Given the description of an element on the screen output the (x, y) to click on. 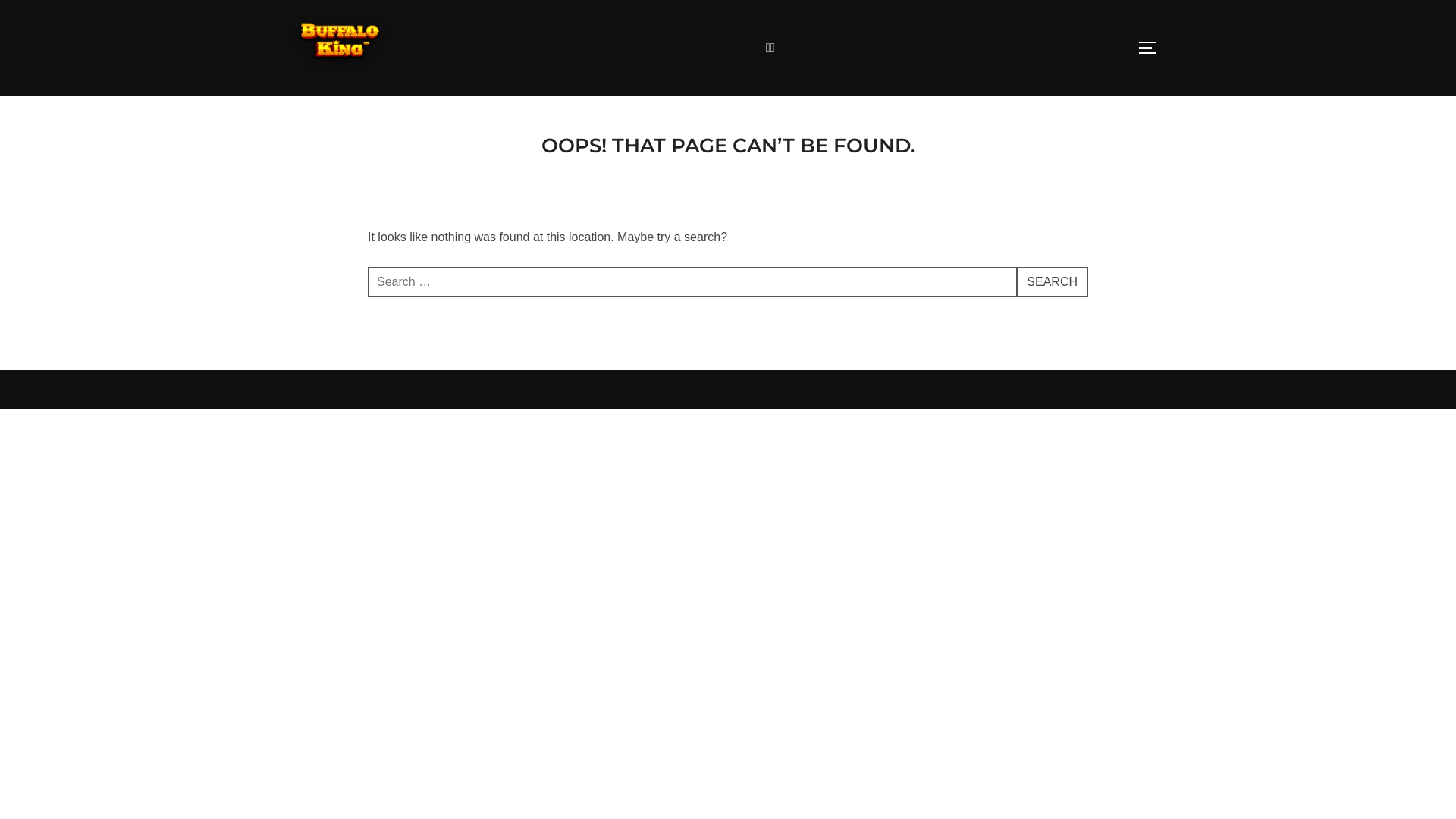
SEARCH Element type: text (1052, 281)
TOGGLE SIDEBAR & NAVIGATION Element type: text (1152, 47)
